Given the description of an element on the screen output the (x, y) to click on. 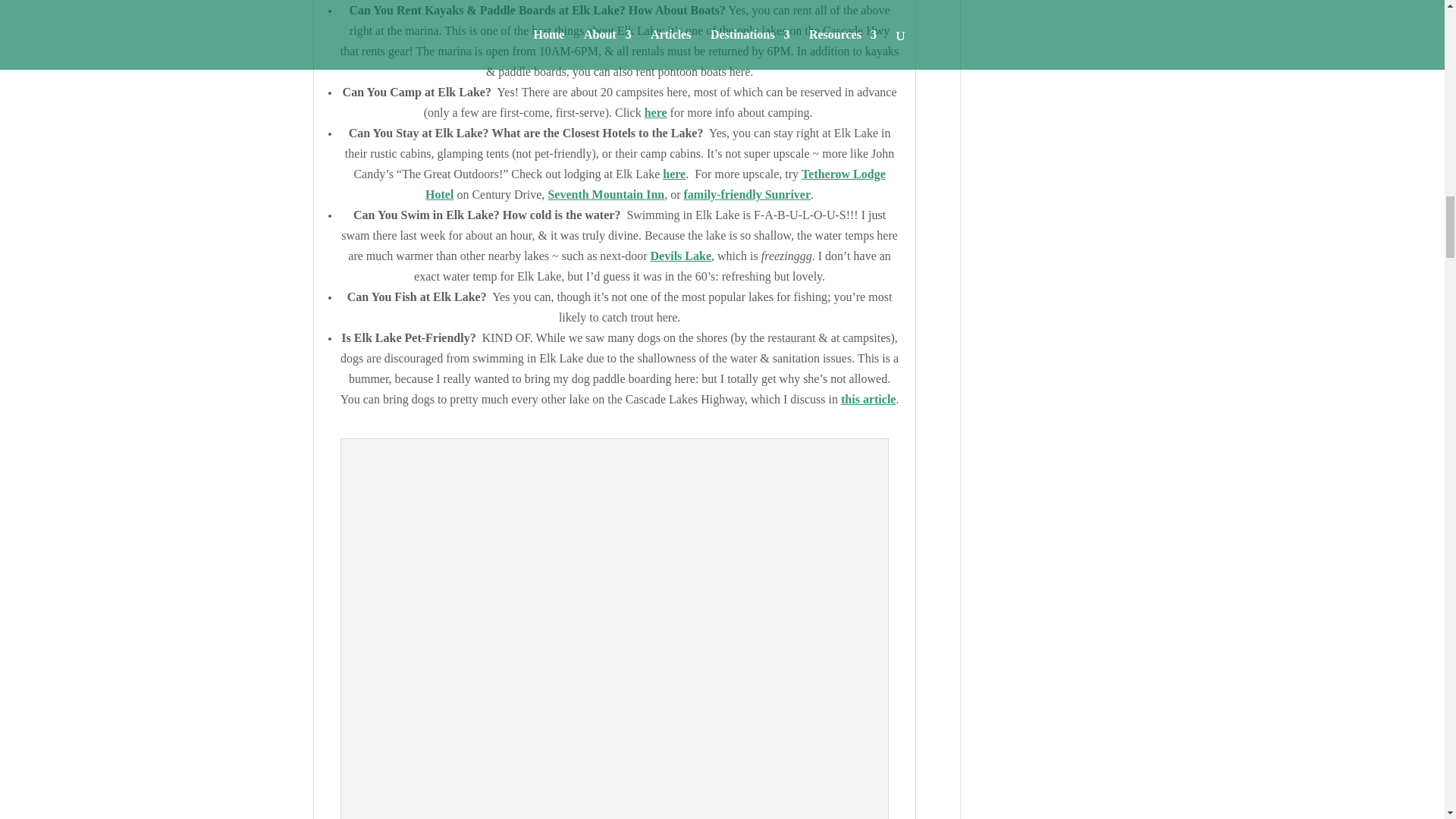
family-friendly Sunriver (747, 194)
this article (868, 399)
here (673, 173)
Seventh Mountain Inn (605, 194)
here (655, 112)
Tetherow Lodge Hotel (655, 183)
Devils Lake (680, 255)
